Given the description of an element on the screen output the (x, y) to click on. 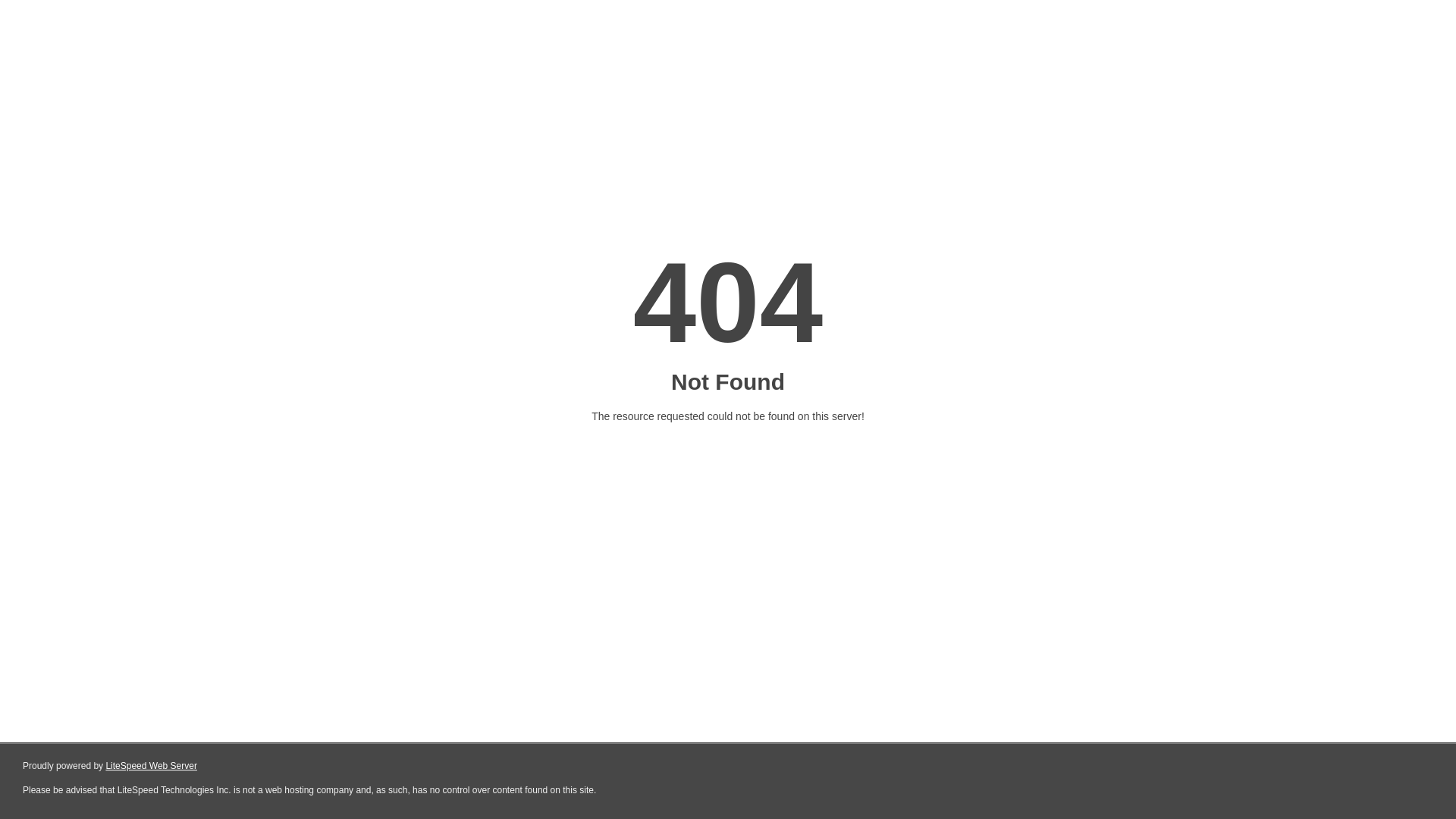
LiteSpeed Web Server Element type: text (151, 765)
